Given the description of an element on the screen output the (x, y) to click on. 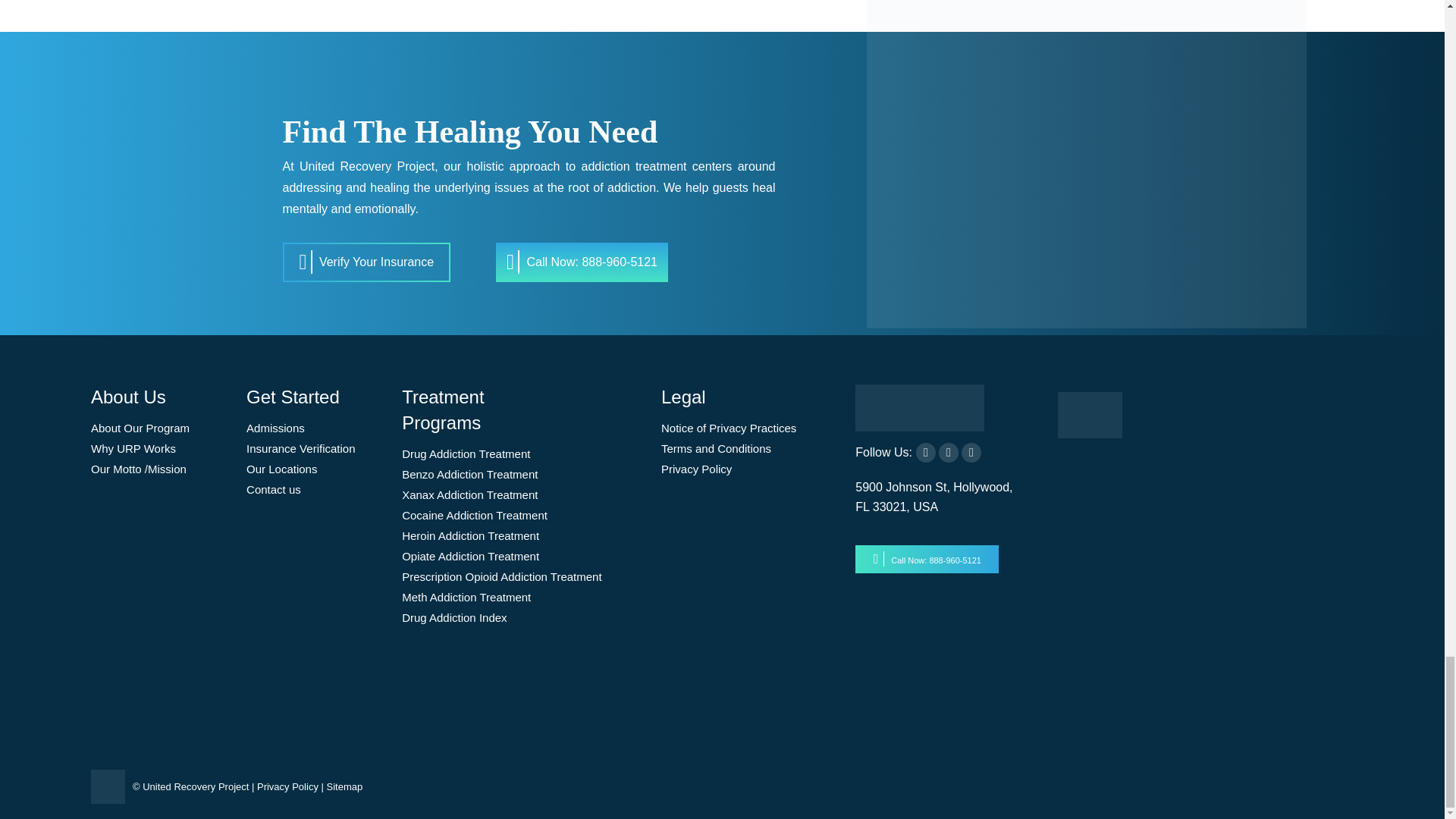
Instagram page opens in new window (970, 452)
Facebook page opens in new window (925, 452)
Verify LegitScript Approval (1090, 433)
Twitter page opens in new window (948, 452)
